Given the description of an element on the screen output the (x, y) to click on. 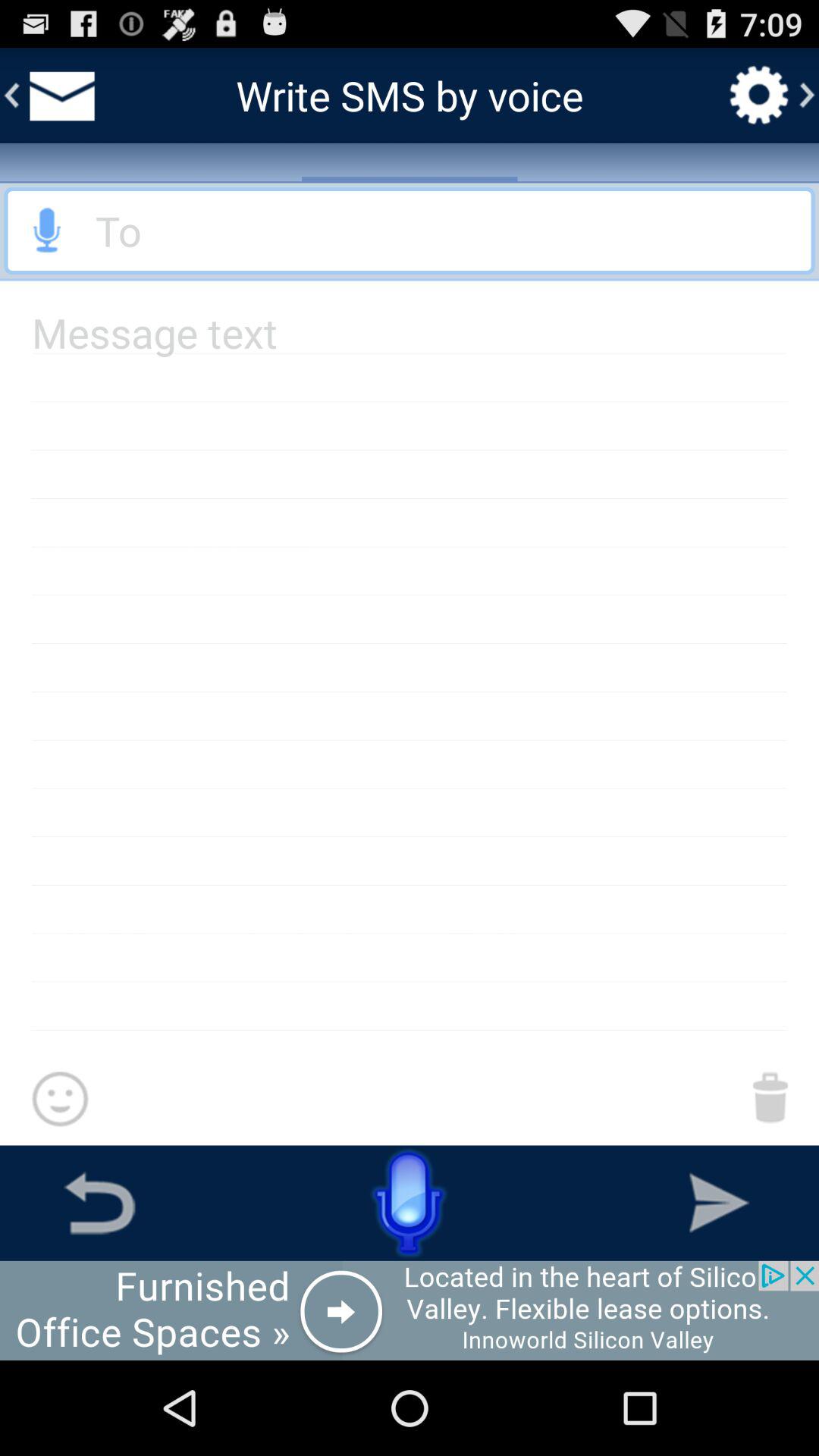
toggle the go back button (99, 1202)
